Given the description of an element on the screen output the (x, y) to click on. 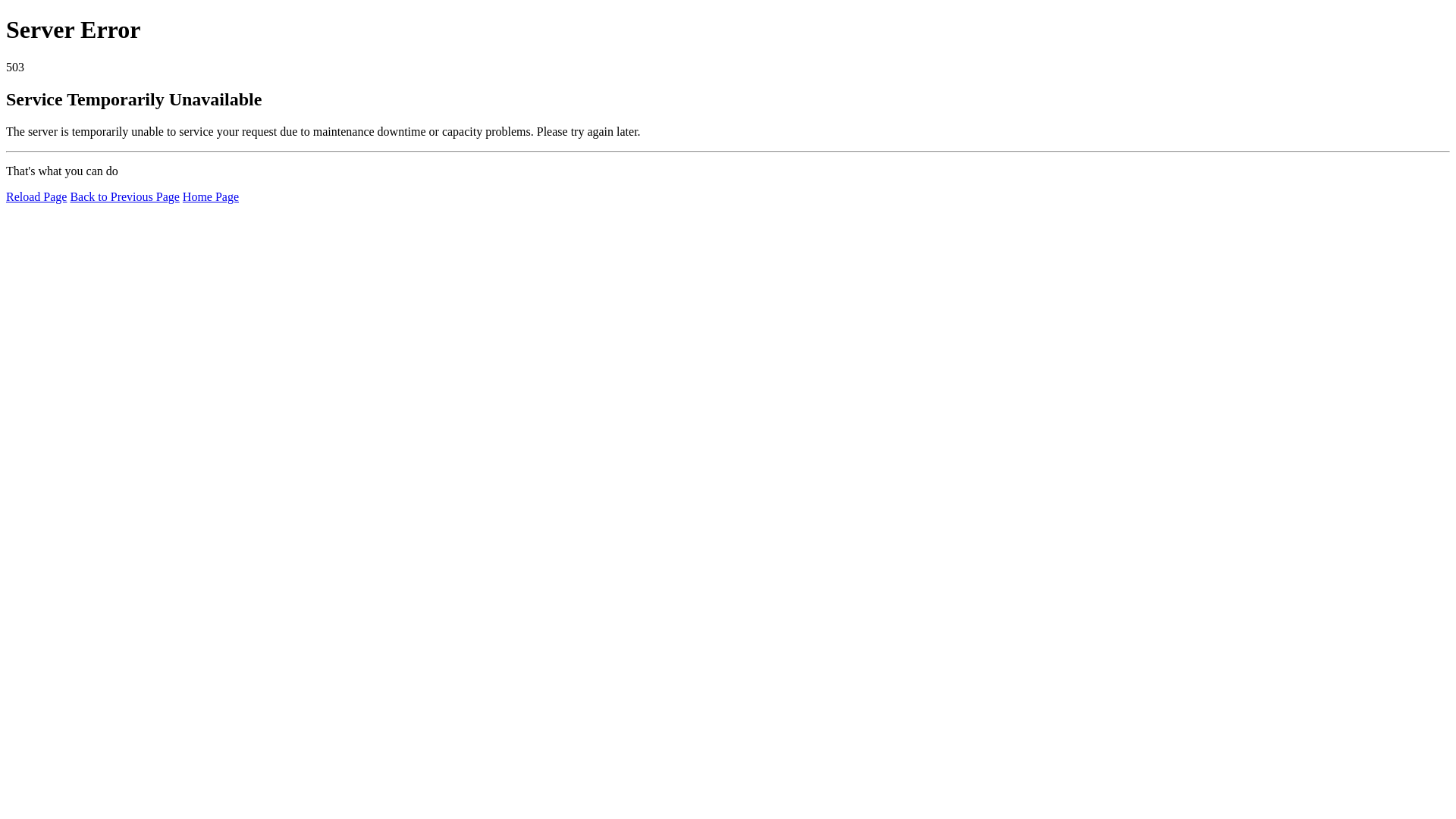
Home Page Element type: text (210, 196)
Reload Page Element type: text (36, 196)
Back to Previous Page Element type: text (123, 196)
